Given the description of an element on the screen output the (x, y) to click on. 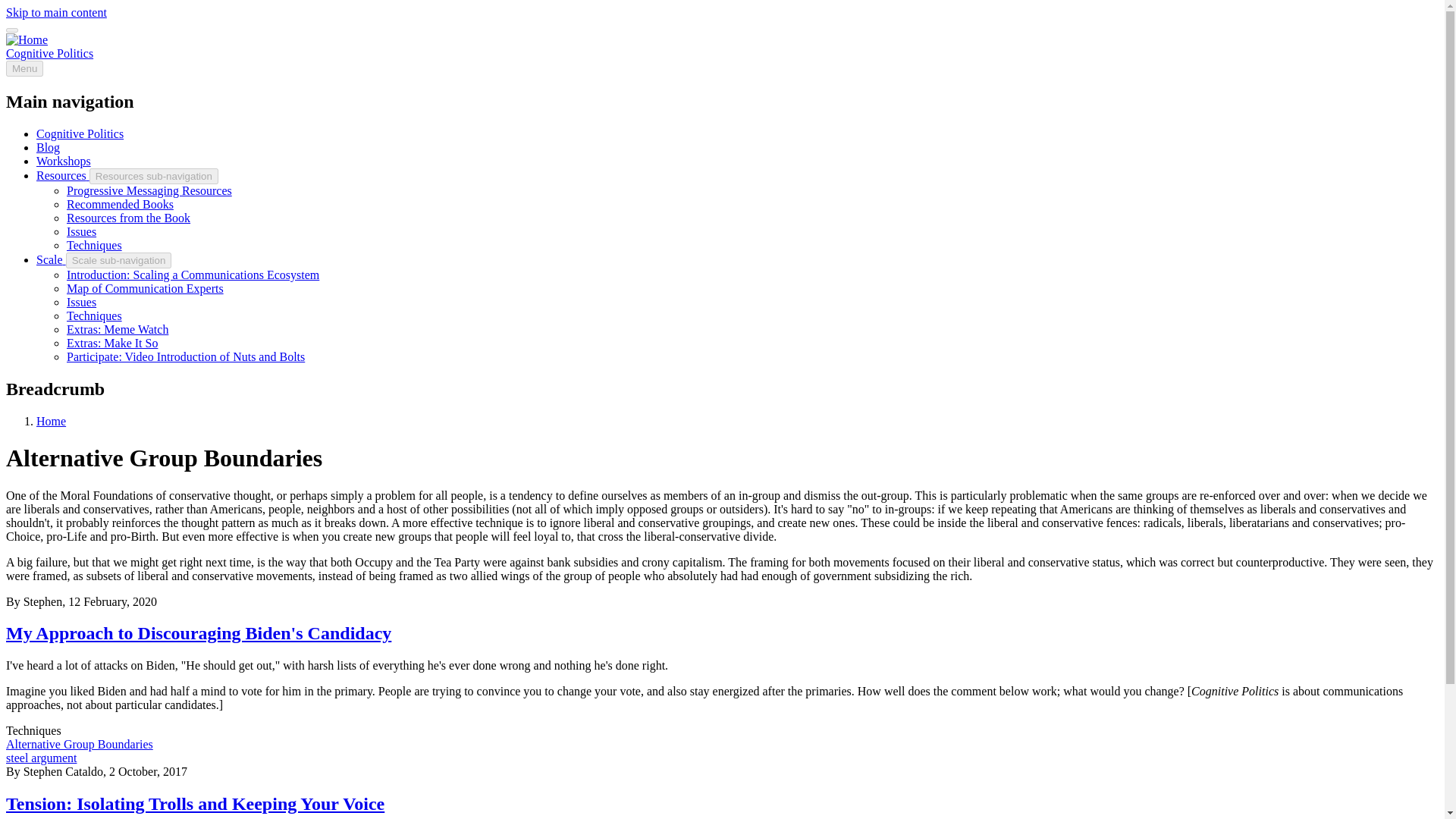
Recommended Books (119, 204)
Extras: Meme Watch (117, 328)
steel argument (41, 757)
Issues (81, 301)
Cognitive Politics (79, 133)
Home (50, 420)
Home (49, 52)
Resources from the Book (128, 217)
My Approach to Discouraging Biden's Candidacy (198, 632)
Map of Communication Experts (145, 287)
